Given the description of an element on the screen output the (x, y) to click on. 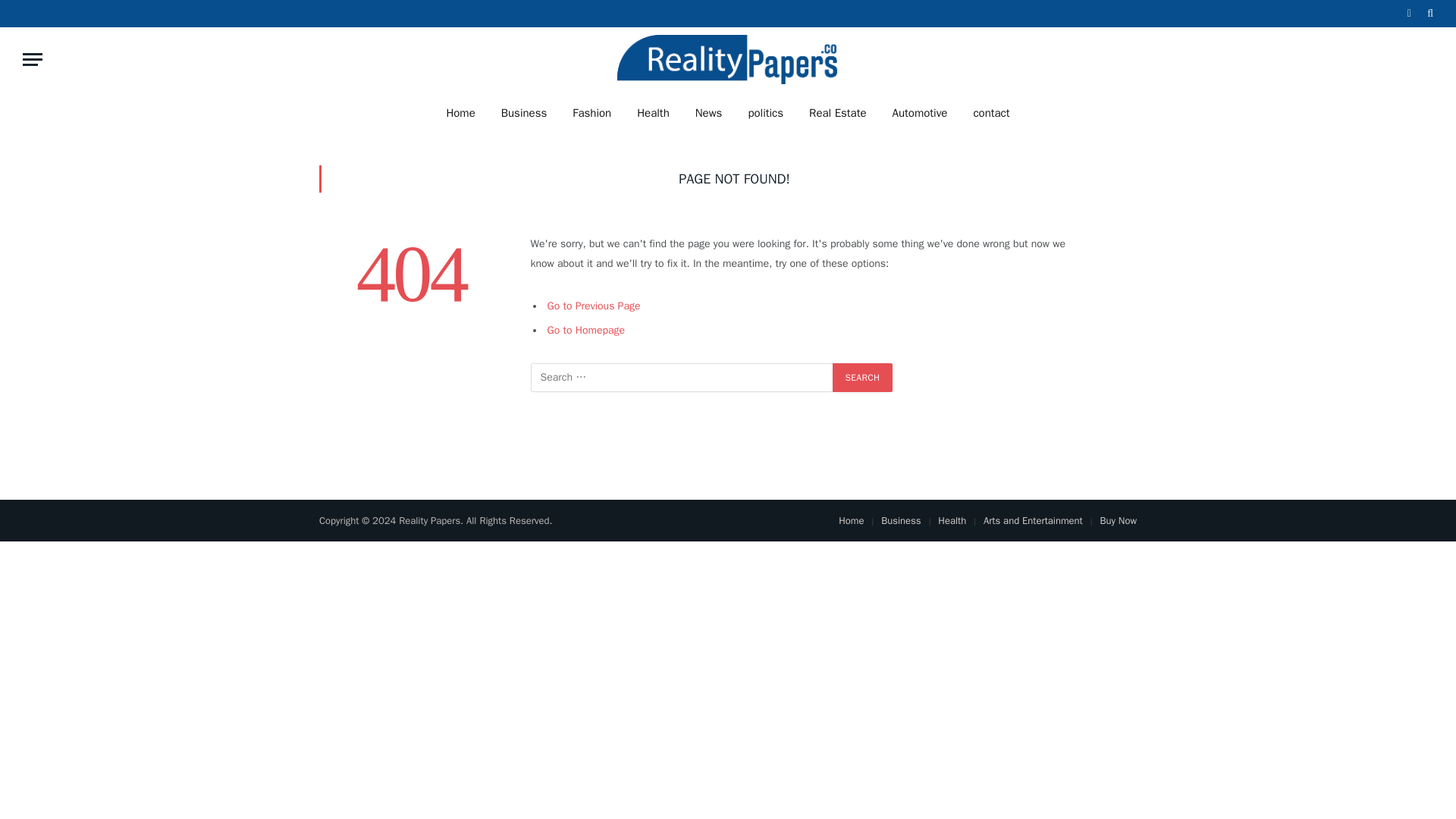
Business (523, 112)
Search (862, 377)
Real Estate (837, 112)
Search (862, 377)
Reality Papers (727, 59)
Arts and Entertainment (1033, 520)
Search (862, 377)
Fashion (591, 112)
Go to Previous Page (593, 305)
Home (459, 112)
Switch to Dark Design - easier on eyes. (1408, 13)
politics (765, 112)
contact (990, 112)
Automotive (919, 112)
Go to Homepage (586, 329)
